Given the description of an element on the screen output the (x, y) to click on. 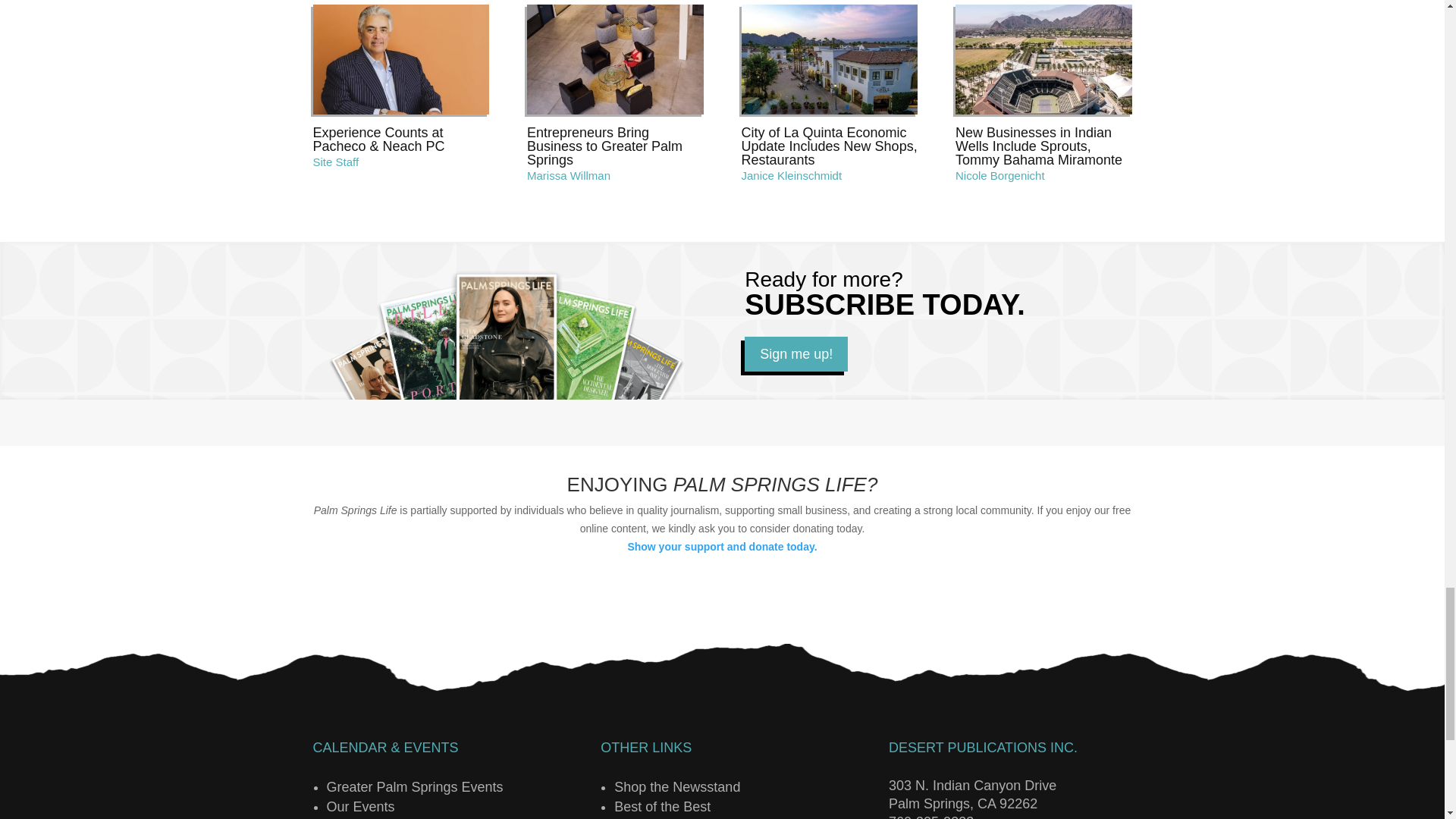
Posts by Marissa Willman (568, 174)
Posts by Nicole Borgenicht (1000, 174)
Posts by Janice Kleinschmidt (792, 174)
Posts by Site Staff (335, 161)
